Given the description of an element on the screen output the (x, y) to click on. 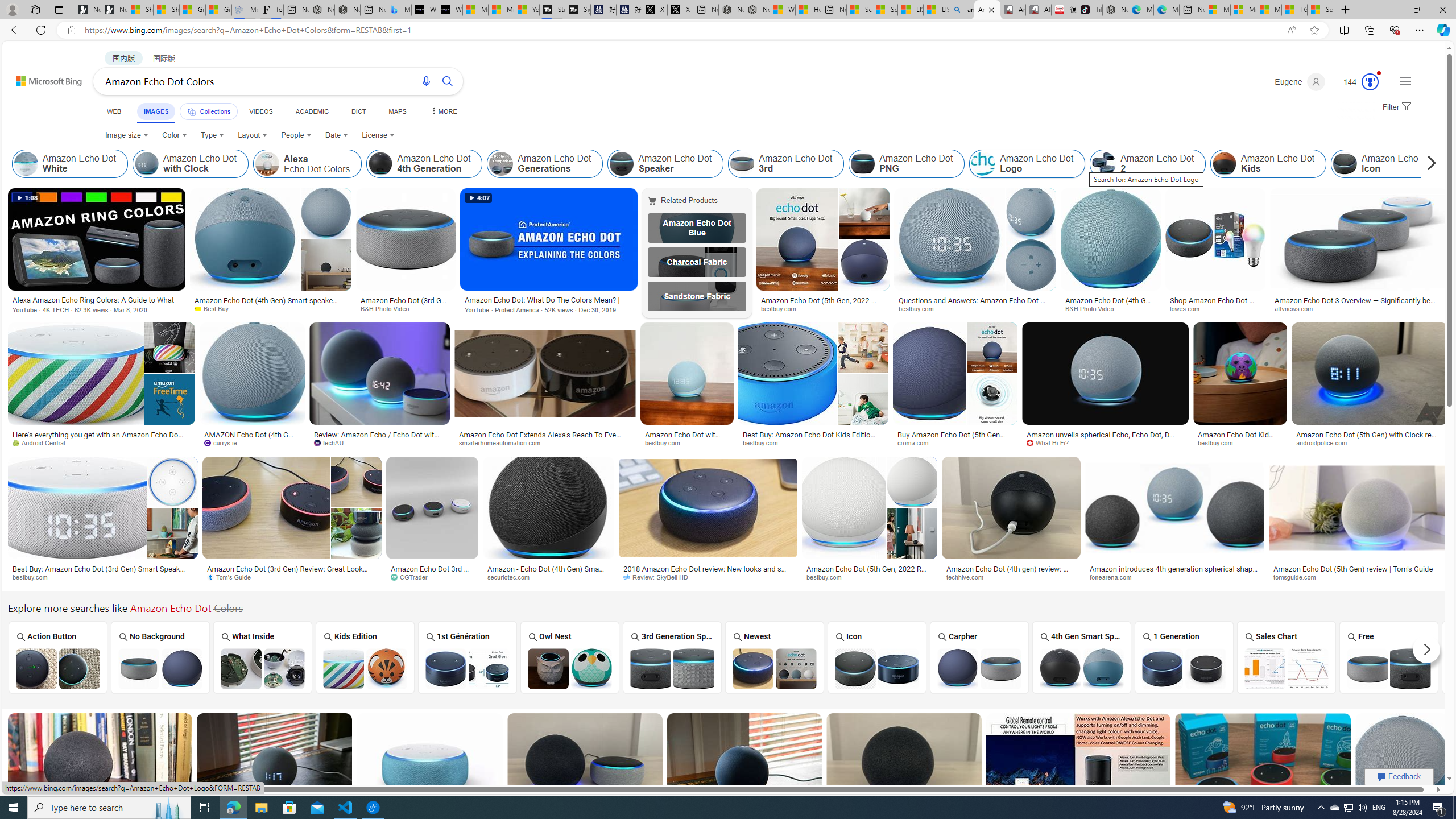
3rd Generation Speaker (671, 656)
securiotec.com (548, 576)
Class: outer-circle-animation (1369, 81)
Amazon Echo Dot Blue (696, 227)
Newsletter Sign Up (114, 9)
aftvnews.com (1358, 308)
croma.com (916, 442)
Best Buy (216, 308)
